Given the description of an element on the screen output the (x, y) to click on. 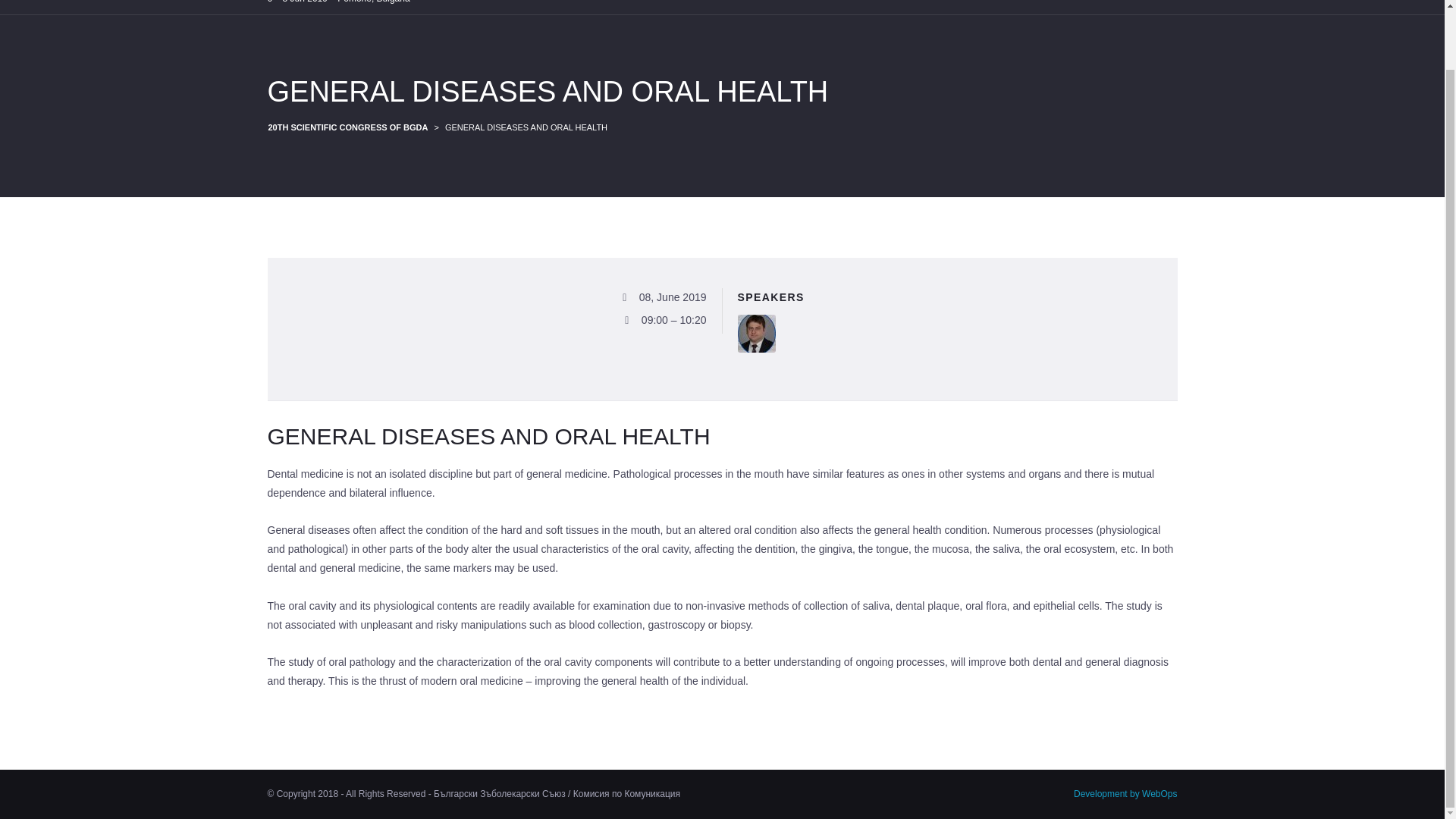
English (1111, 7)
Congress (1049, 7)
Development by WebOps (1125, 793)
20TH SCIENTIFIC CONGRESS OF BGDA (347, 126)
Home (991, 7)
Go to 20th Scientific Congress of BgDA. (347, 126)
